Given the description of an element on the screen output the (x, y) to click on. 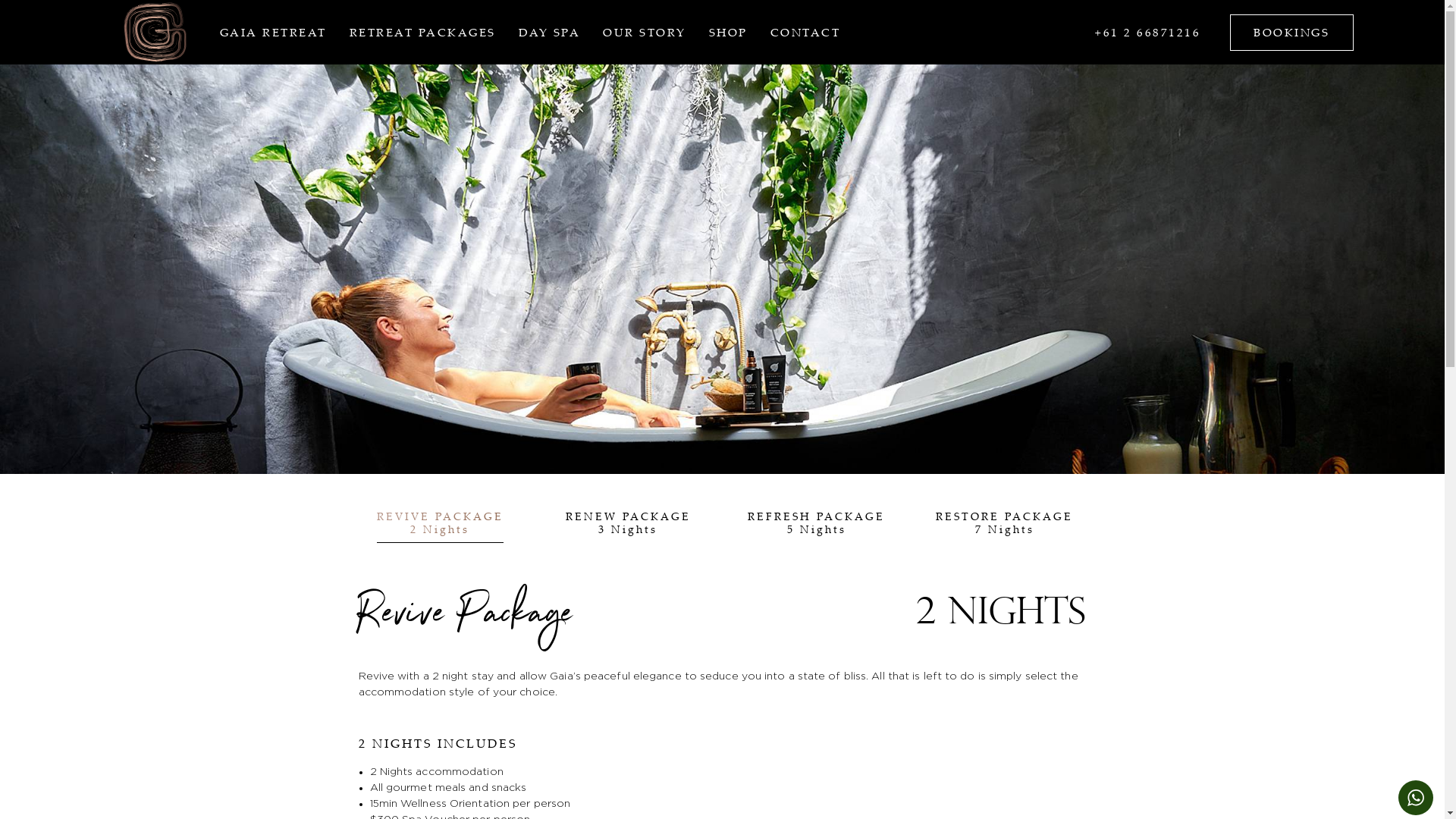
REVIVE PACKAGE
2 Nights Element type: text (439, 522)
RENEW PACKAGE
3 Nights Element type: text (627, 522)
DAY SPA Element type: text (549, 32)
REFRESH PACKAGE
5 Nights Element type: text (815, 522)
RESTORE PACKAGE
7 Nights Element type: text (1004, 522)
OUR STORY Element type: text (644, 32)
BOOKINGS Element type: text (1291, 32)
GAIA RETREAT Element type: text (272, 32)
CONTACT Element type: text (805, 32)
+61 2 66871216 Element type: text (1147, 31)
RETREAT PACKAGES Element type: text (422, 32)
SHOP Element type: text (728, 32)
